Given the description of an element on the screen output the (x, y) to click on. 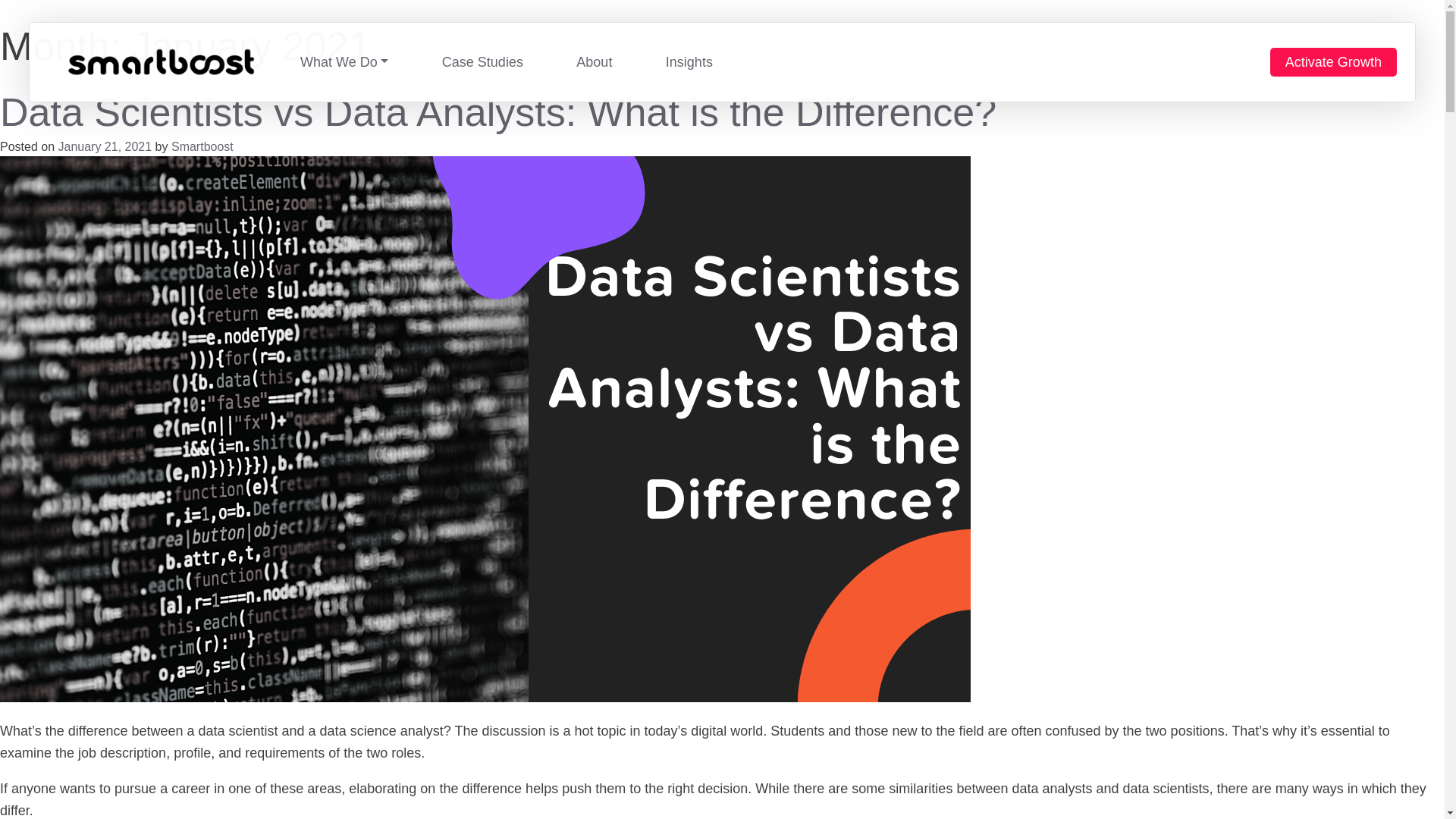
Smartboost (201, 146)
Activate Growth (1333, 61)
About (593, 62)
What We Do (344, 62)
Case Studies (482, 62)
Data Scientists vs Data Analysts: What is the Difference? (497, 112)
Insights (689, 62)
January 21, 2021 (104, 146)
